Given the description of an element on the screen output the (x, y) to click on. 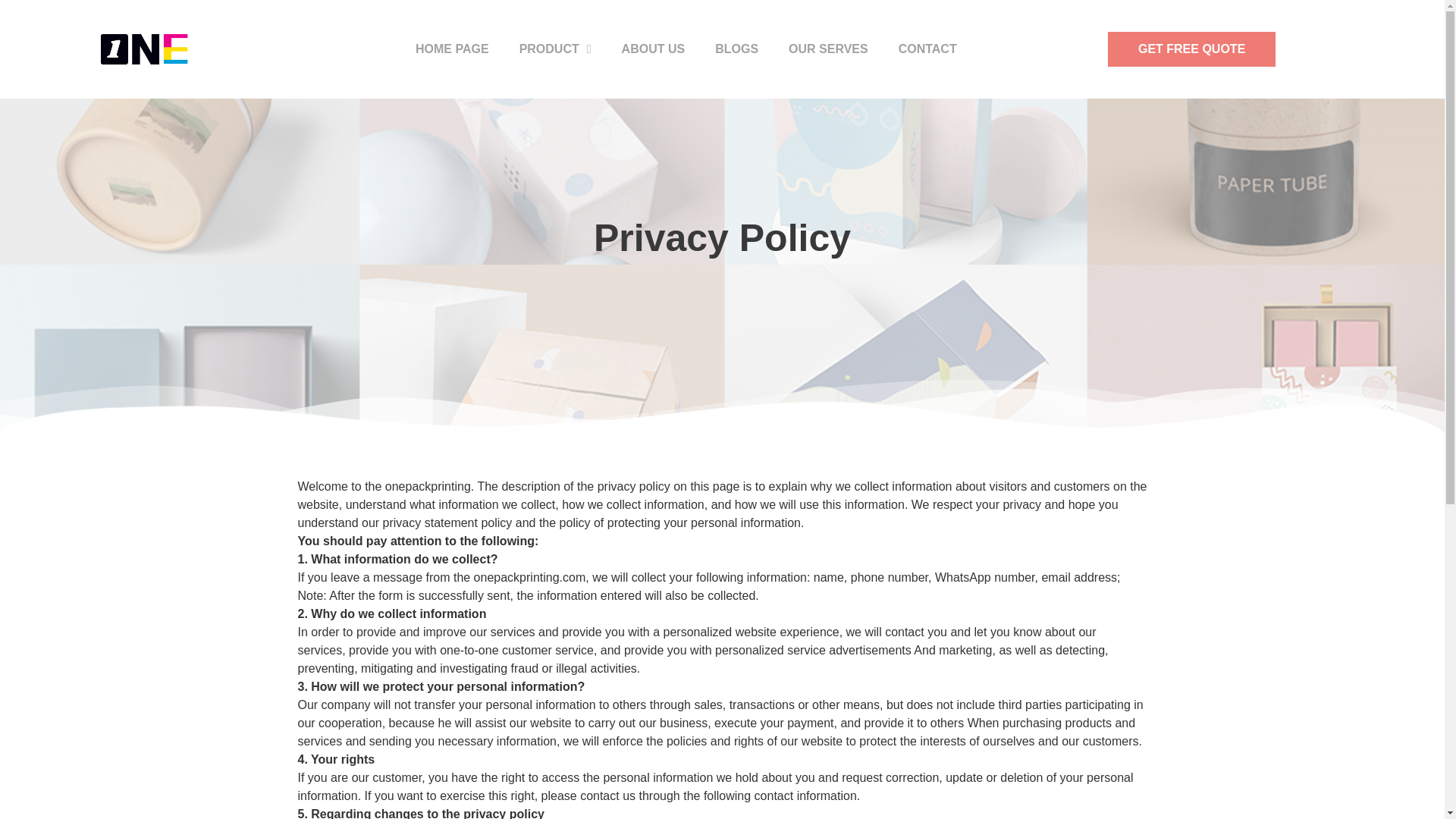
BLOGS (736, 49)
PRODUCT (555, 49)
HOME PAGE (451, 49)
CONTACT (927, 49)
GET FREE QUOTE (1191, 48)
OUR SERVES (828, 49)
ABOUT US (653, 49)
